Given the description of an element on the screen output the (x, y) to click on. 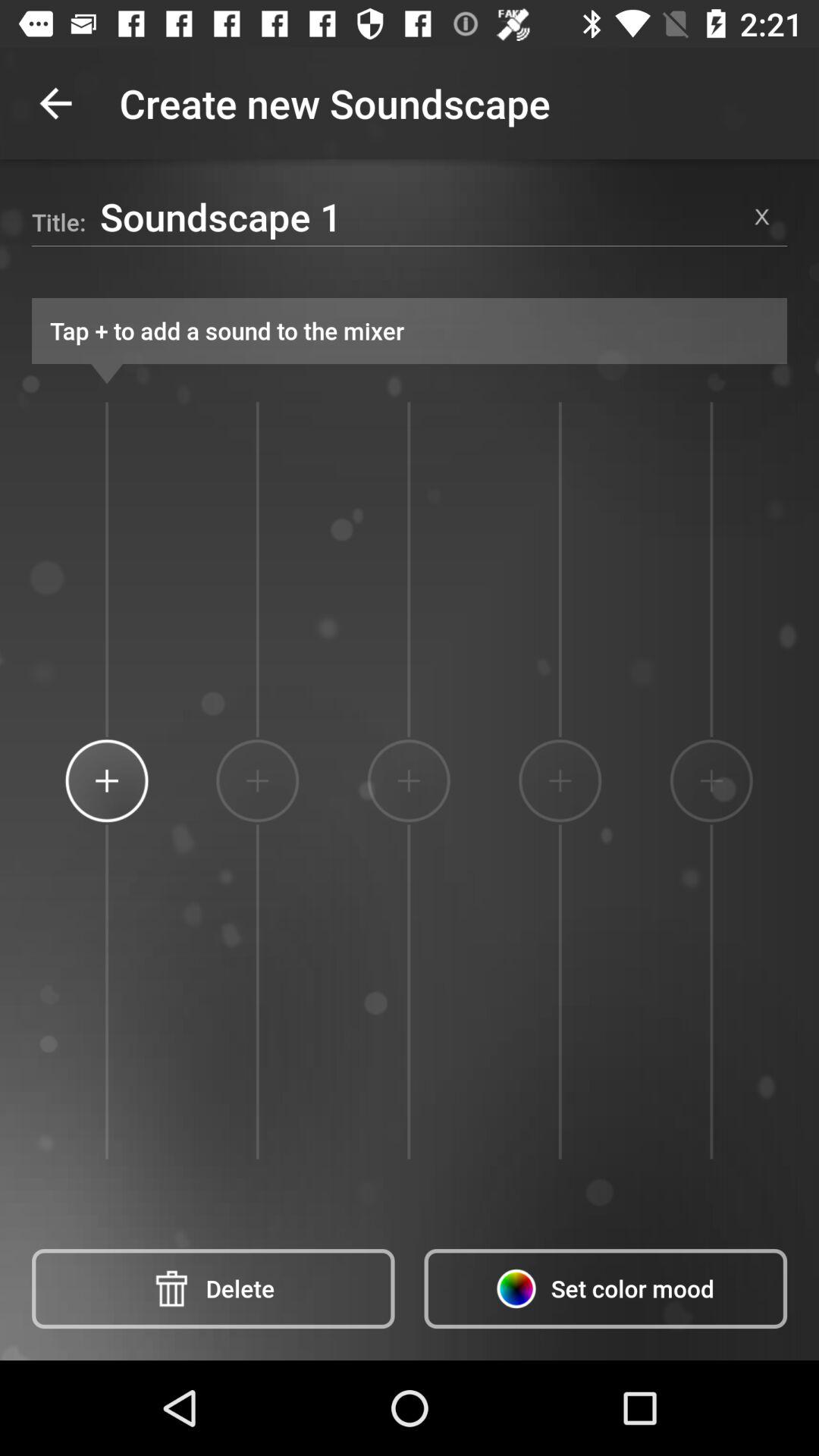
turn on the app next to create new soundscape (55, 103)
